Given the description of an element on the screen output the (x, y) to click on. 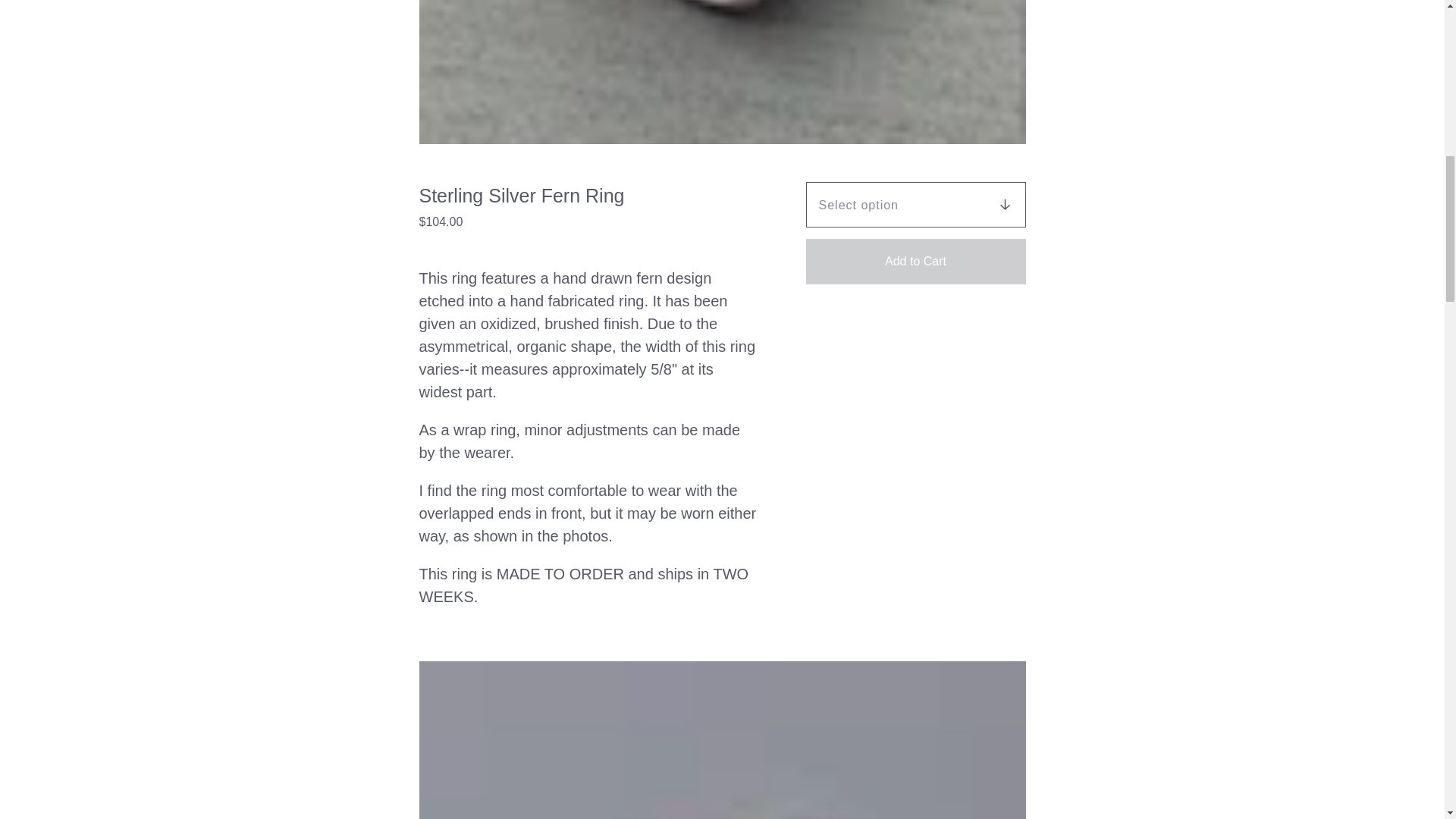
Add to Cart (915, 261)
